Given the description of an element on the screen output the (x, y) to click on. 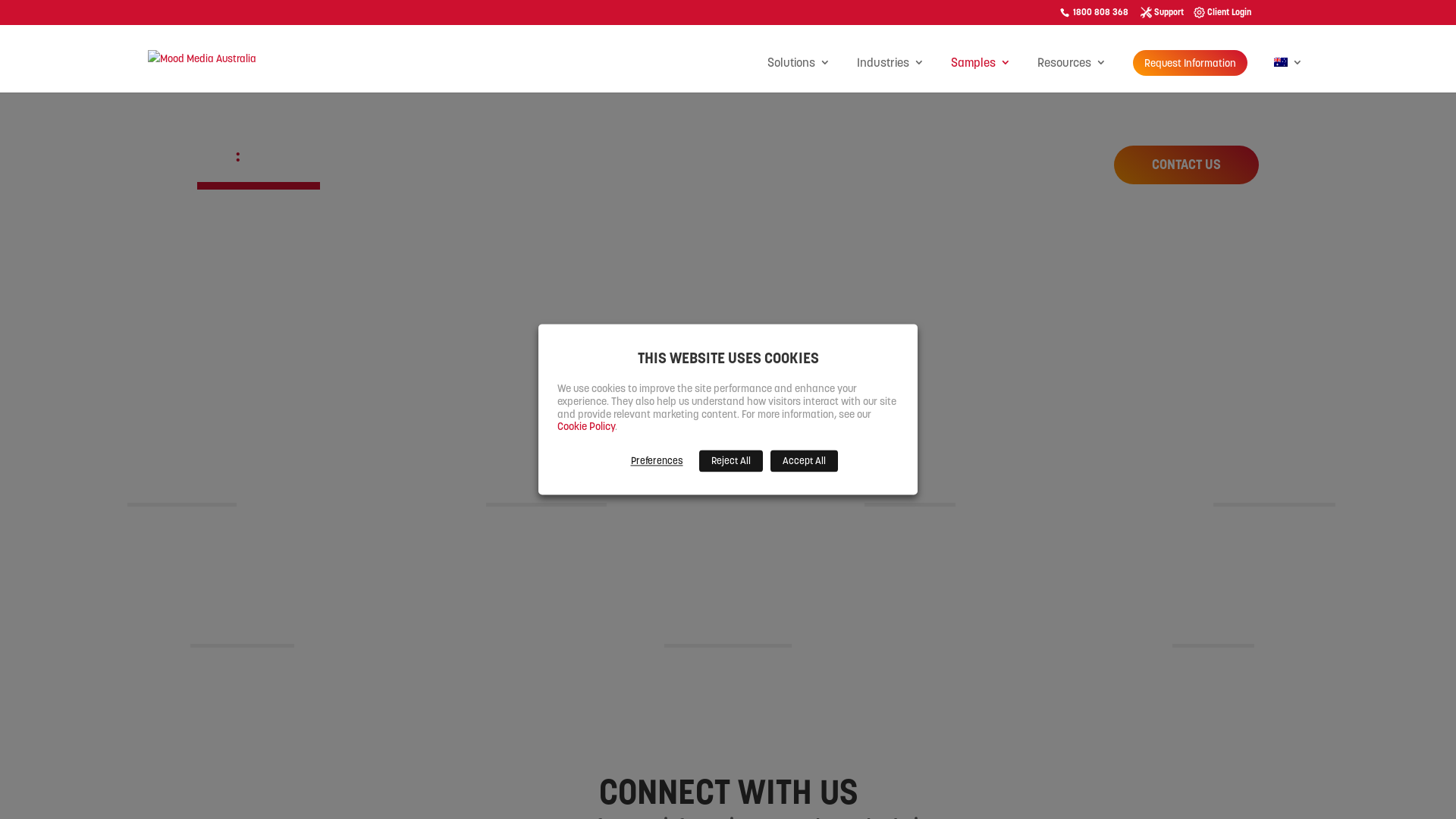
Request Information Element type: text (1189, 62)
Support Element type: text (1168, 11)
Preferences Element type: text (656, 461)
Resources Element type: text (1071, 74)
COVID MESSAGING Element type: text (242, 631)
Client Login Element type: text (1229, 11)
Reject All Element type: text (730, 461)
Cookie Policy Element type: text (586, 426)
MUSIC STYLES Element type: text (1213, 631)
IN-STORE MESSAGING Element type: text (1274, 489)
Samples Element type: text (980, 74)
Accept All Element type: text (803, 461)
CONTACT US Element type: text (1185, 164)
ON-HOLD MESSAGING Element type: text (545, 489)
ON-HOLD MUSIC Element type: text (909, 489)
Solutions Element type: text (798, 74)
Australia Element type: hover (1288, 74)
INDUSTRY MESSAGING Element type: text (727, 631)
Industries Element type: text (890, 74)
VOICE ARCHETYPES Element type: text (181, 489)
